Given the description of an element on the screen output the (x, y) to click on. 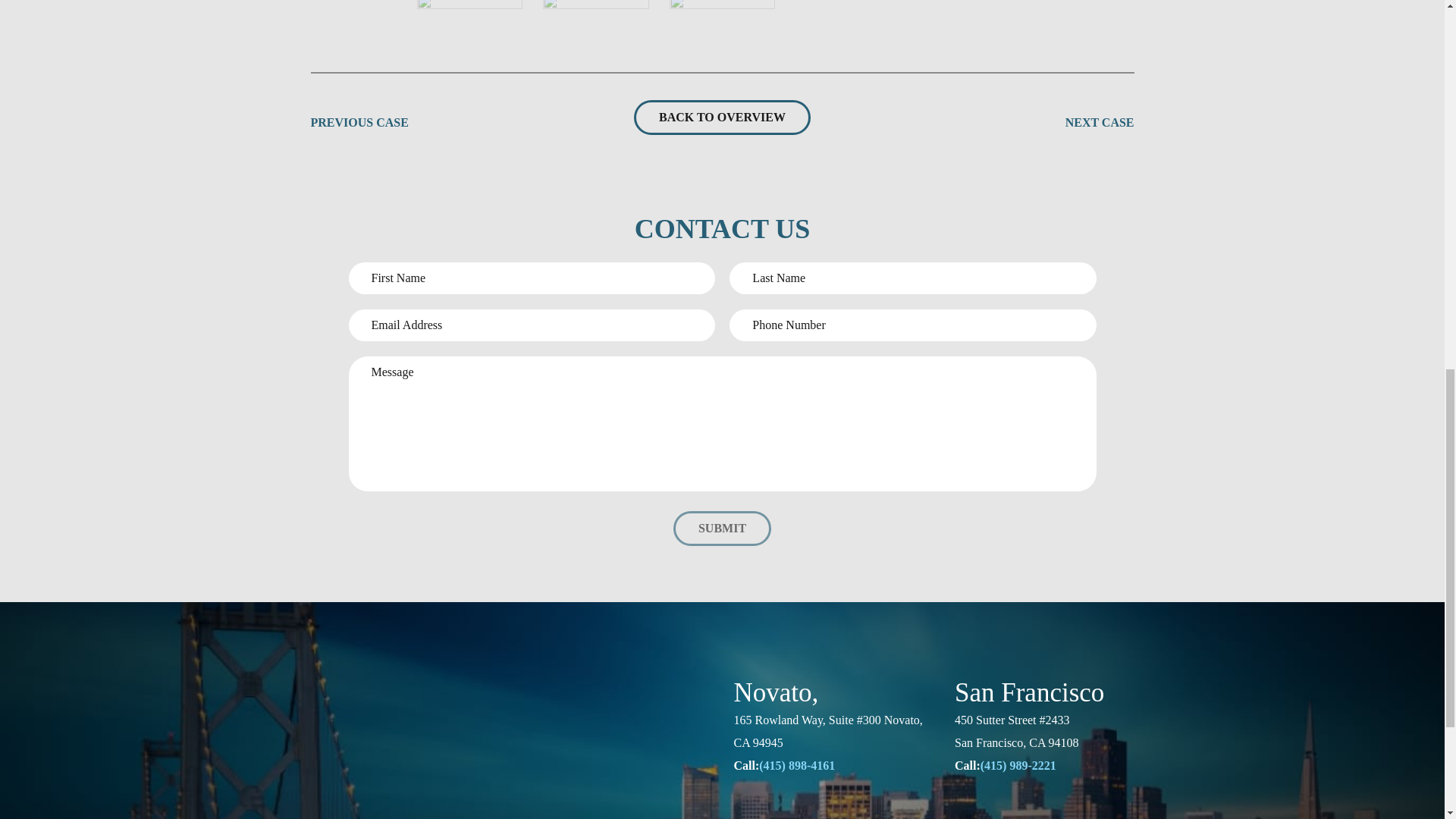
Follow Us on yelp (910, 816)
Follow Us on Twitter (867, 816)
Follow Us on Youtube (781, 816)
Submit (721, 528)
Follow Us on Instagram (738, 816)
Follow Us on Facebook (824, 816)
